Given the description of an element on the screen output the (x, y) to click on. 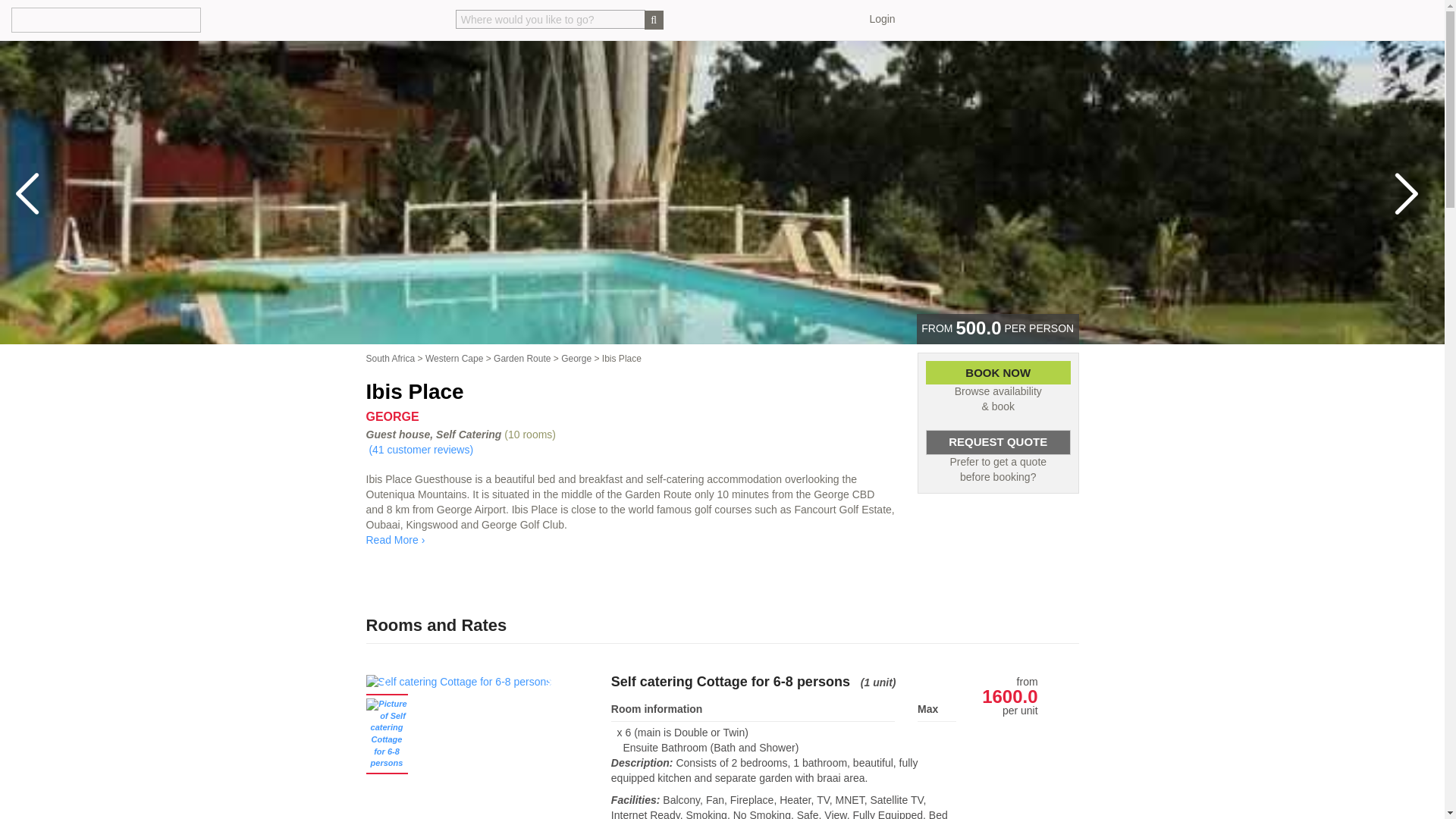
BOOK NOW (998, 372)
Self catering Cottage for 6-8 persons (463, 682)
Garden Route (521, 357)
Western Cape (454, 357)
South Africa (389, 357)
Login (882, 19)
George (575, 357)
Self catering Cottage for 6-8 persons (463, 681)
REQUEST QUOTE (998, 441)
